Given the description of an element on the screen output the (x, y) to click on. 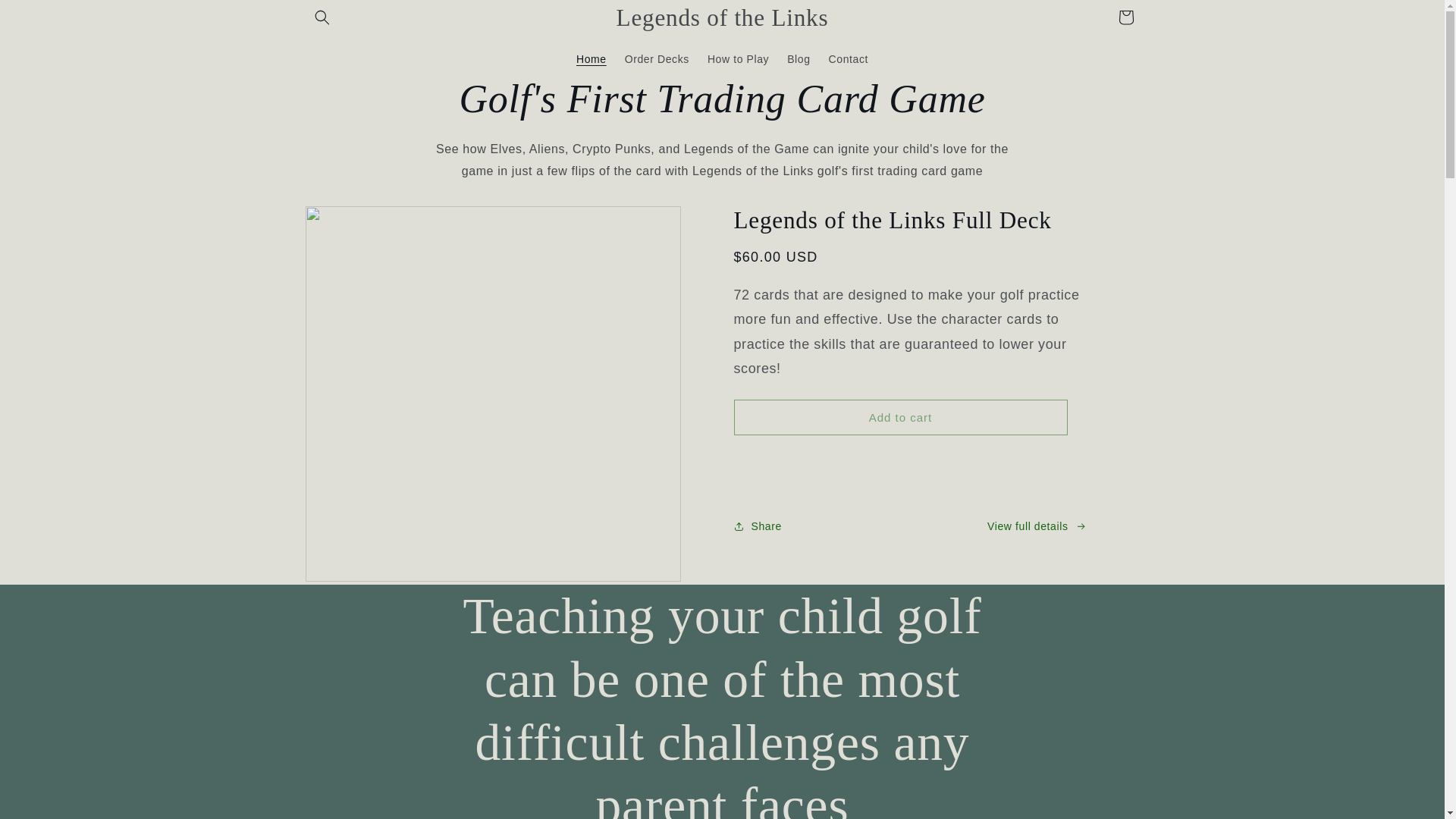
How to Play (737, 59)
Blog (797, 59)
Cart (1124, 17)
Legends of the Links (722, 17)
Skip to content (45, 17)
Home (591, 59)
View full details (1036, 525)
Add to cart (900, 416)
Contact (848, 59)
Order Decks (656, 59)
